Given the description of an element on the screen output the (x, y) to click on. 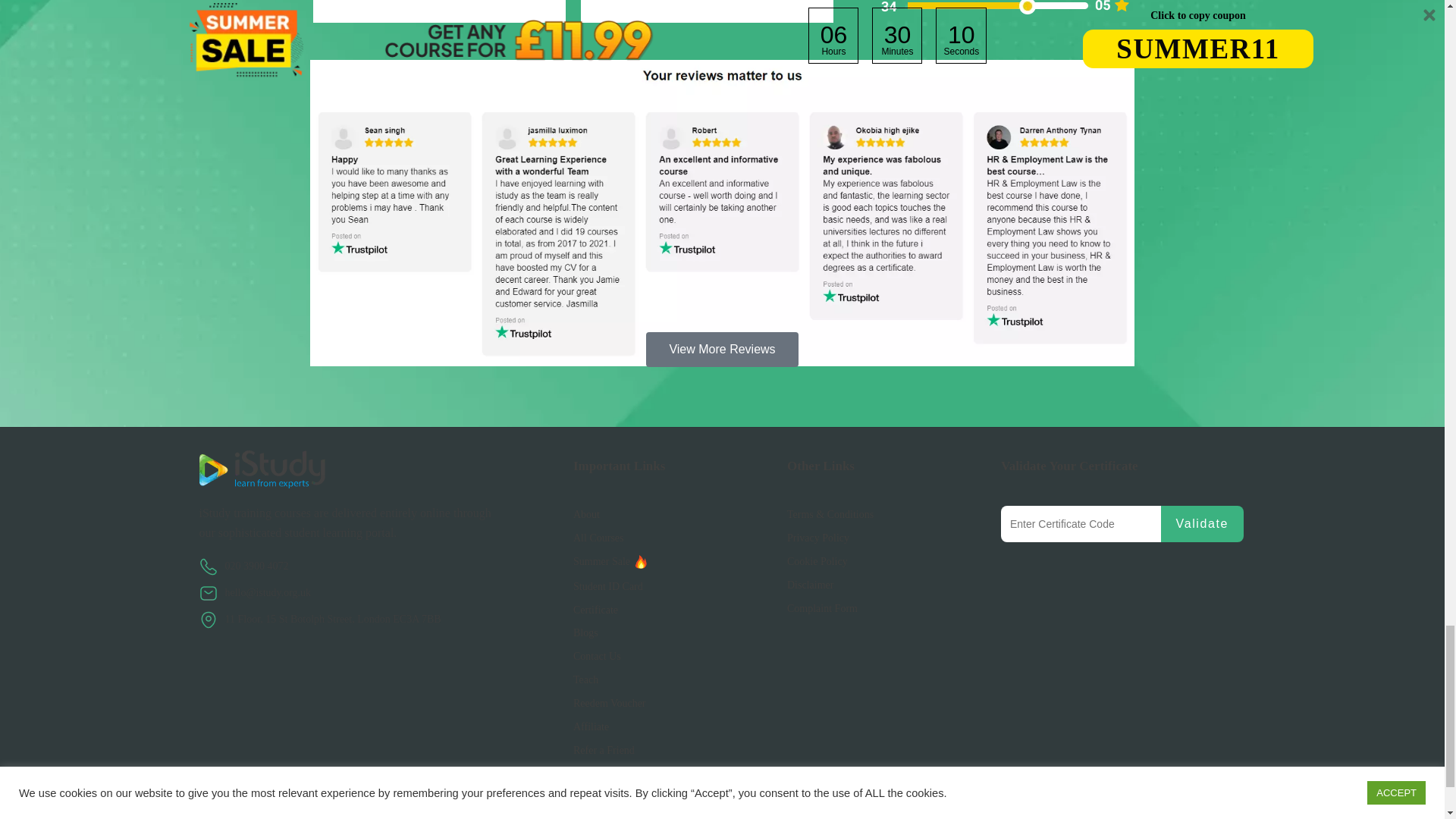
Get in Touch (597, 655)
Validate (1201, 524)
Claim Student Discounts (608, 586)
Become an Instructor (585, 679)
